Given the description of an element on the screen output the (x, y) to click on. 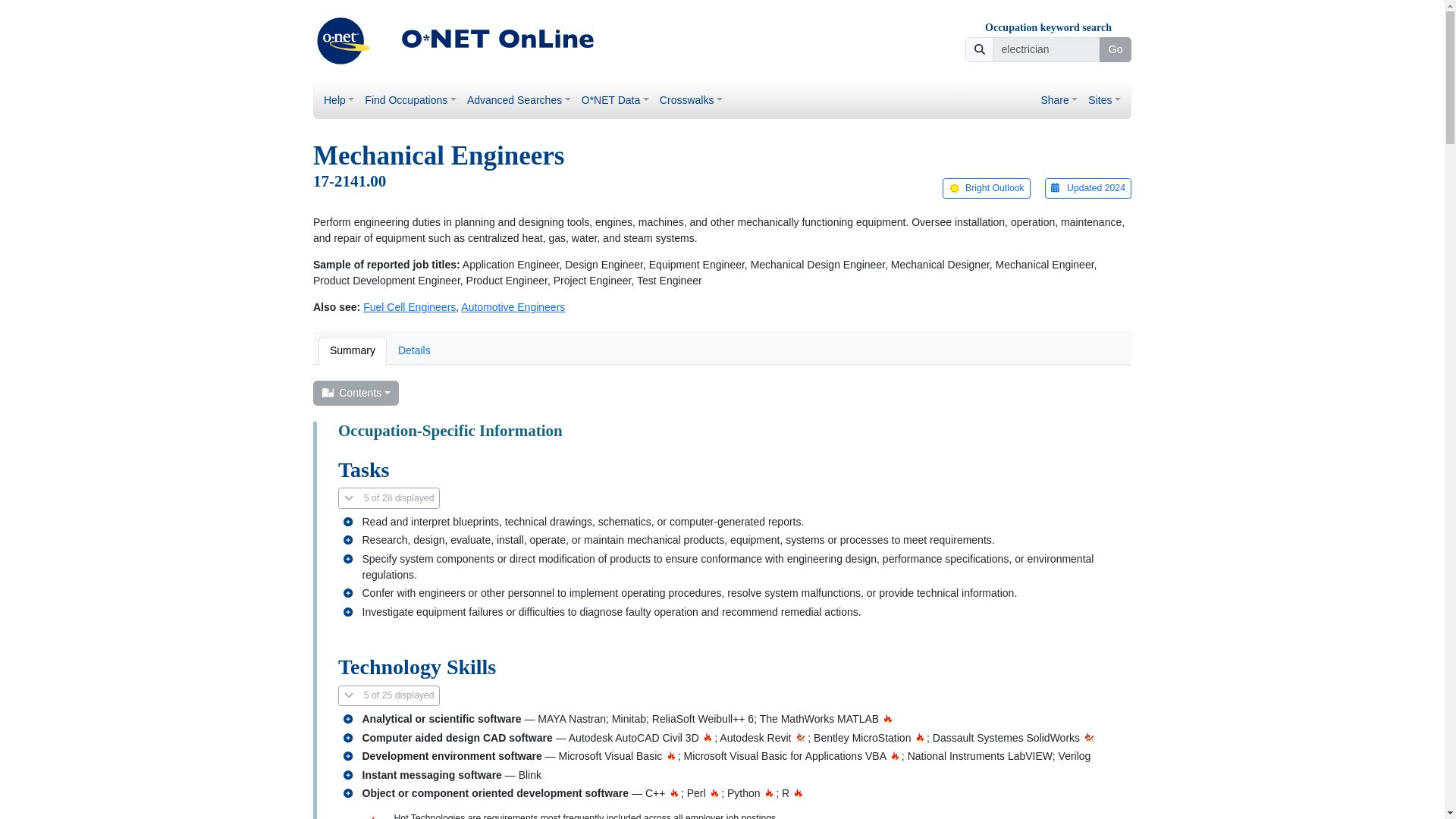
Go (1115, 49)
Find Occupations (410, 99)
Advanced Searches (518, 99)
Help (338, 99)
